Given the description of an element on the screen output the (x, y) to click on. 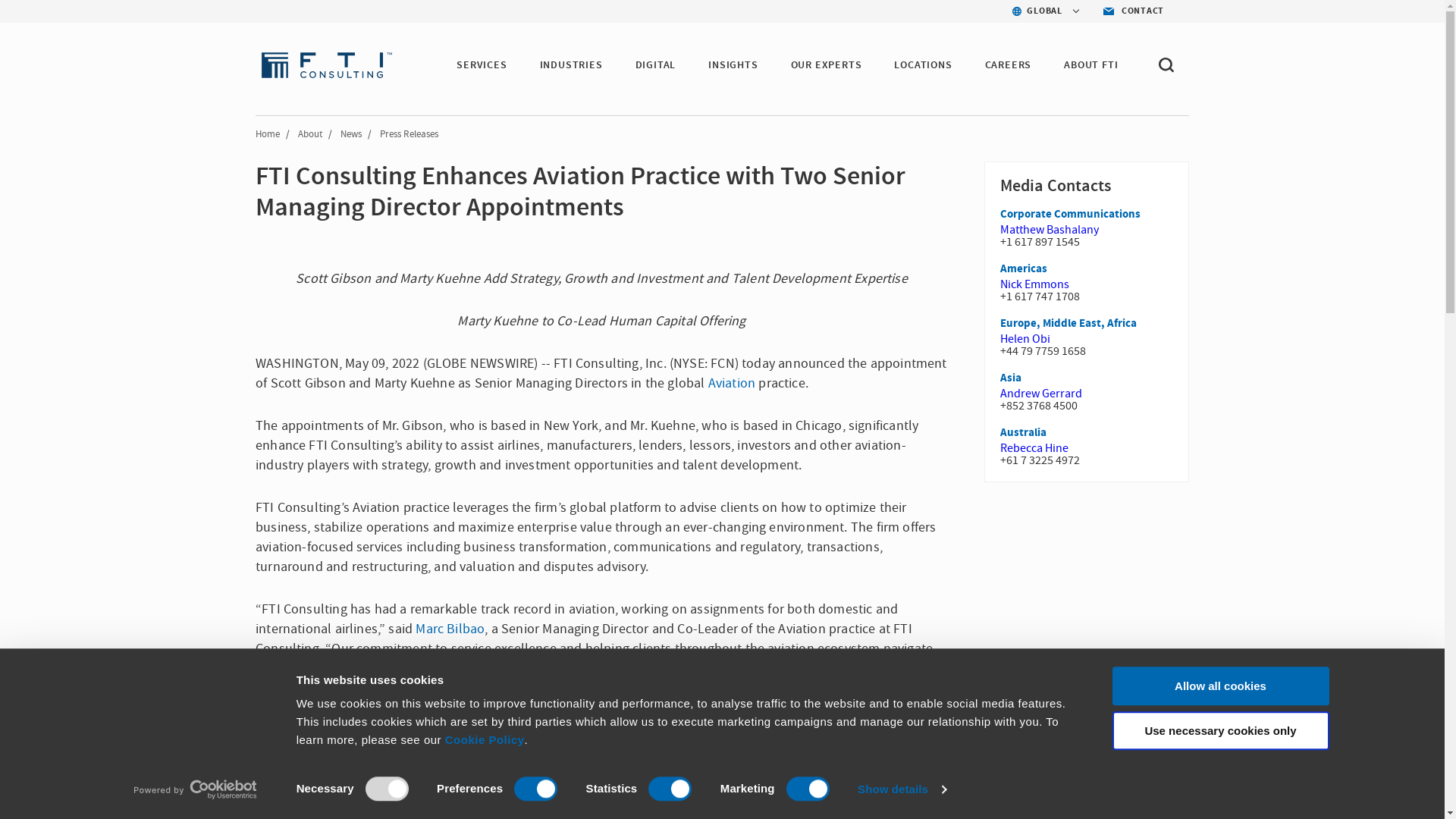
Show details (900, 789)
Cookie Policy (484, 739)
